Given the description of an element on the screen output the (x, y) to click on. 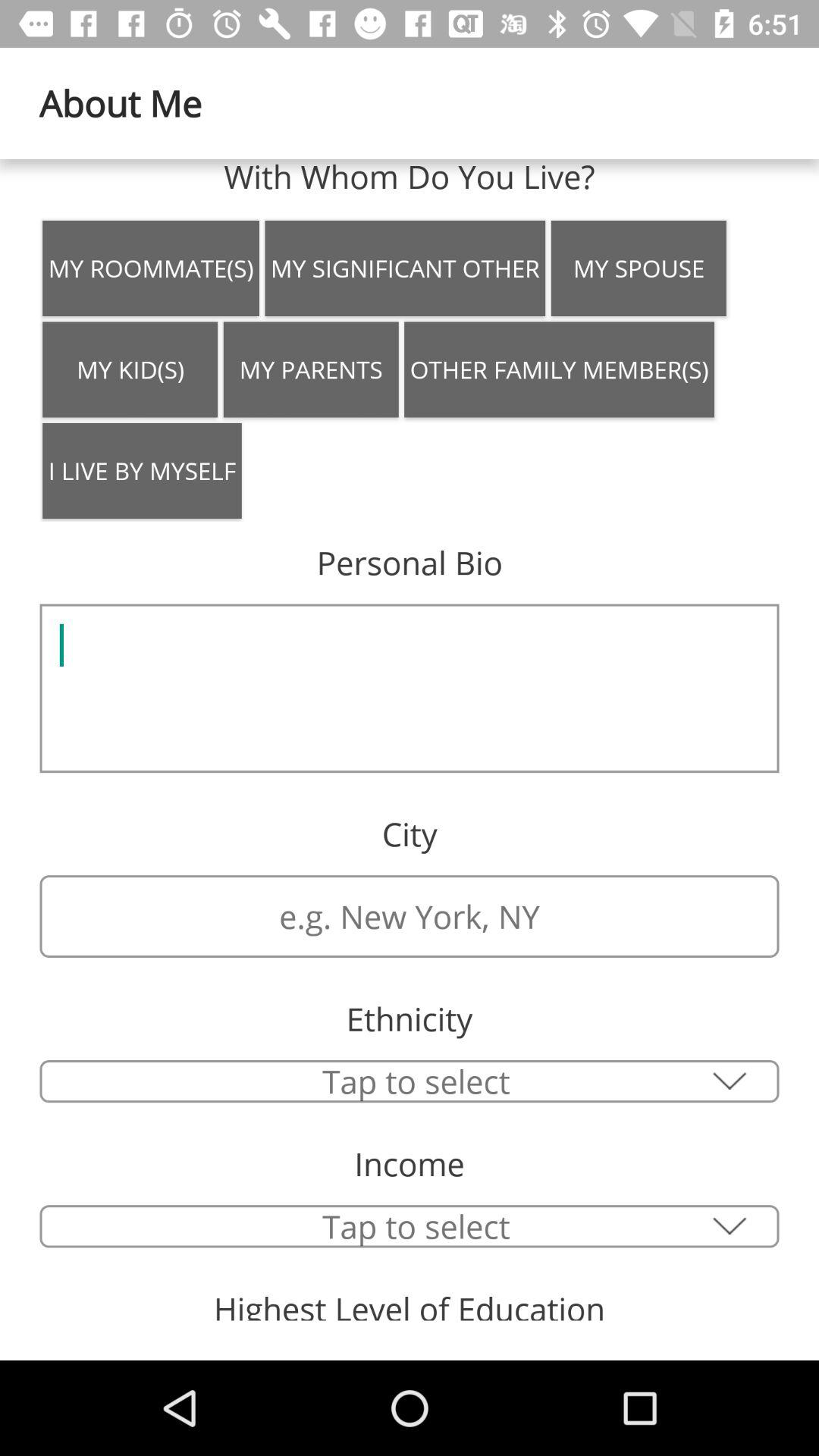
select city (409, 1081)
